Given the description of an element on the screen output the (x, y) to click on. 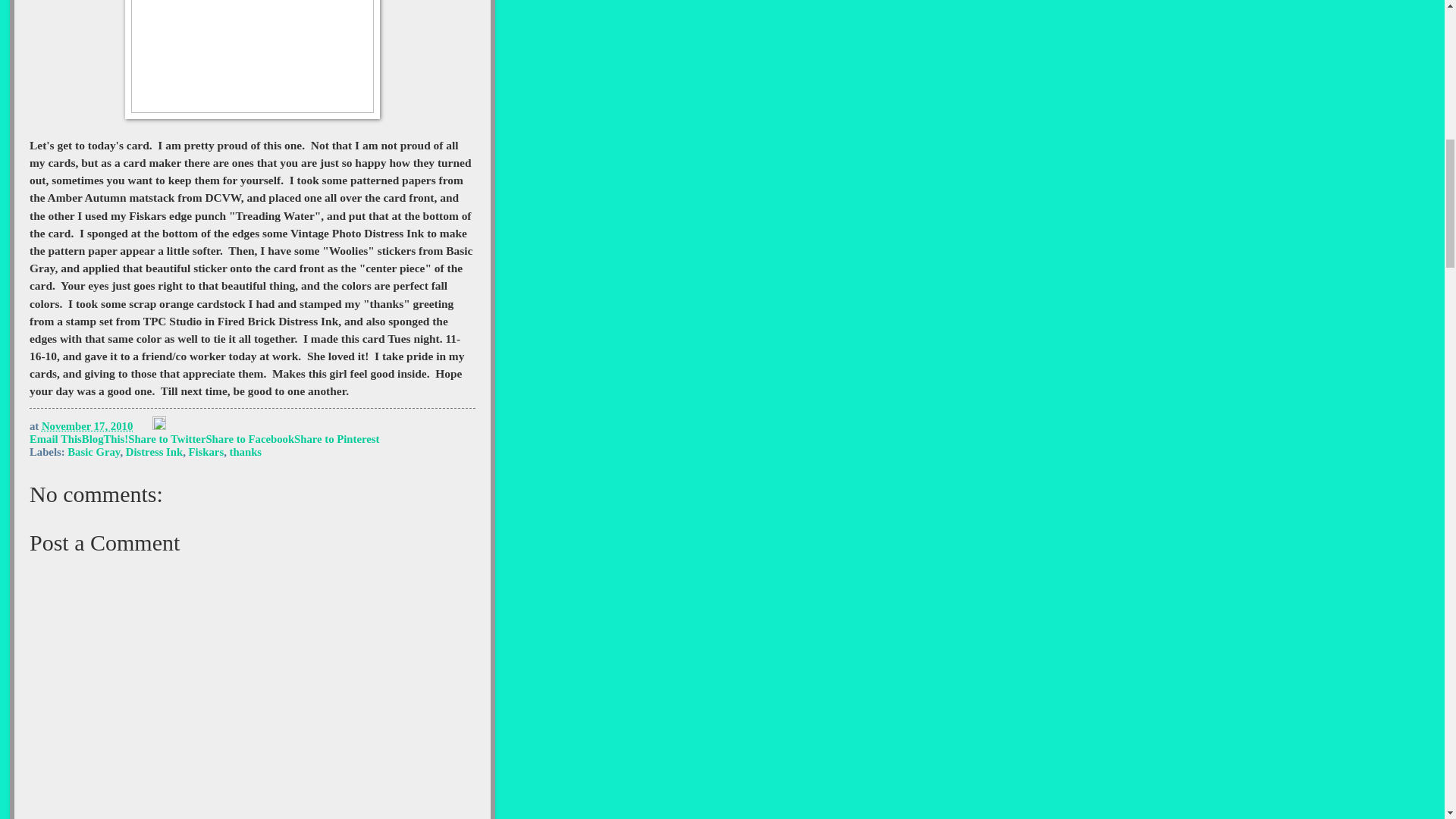
Share to Facebook (249, 439)
Distress Ink (154, 451)
Email This (55, 439)
Share to Pinterest (336, 439)
Share to Facebook (249, 439)
Email This (55, 439)
BlogThis! (104, 439)
Share to Twitter (166, 439)
November 17, 2010 (87, 426)
Edit Post (158, 426)
Share to Pinterest (336, 439)
BlogThis! (104, 439)
Share to Twitter (166, 439)
Fiskars (206, 451)
Email Post (143, 426)
